Given the description of an element on the screen output the (x, y) to click on. 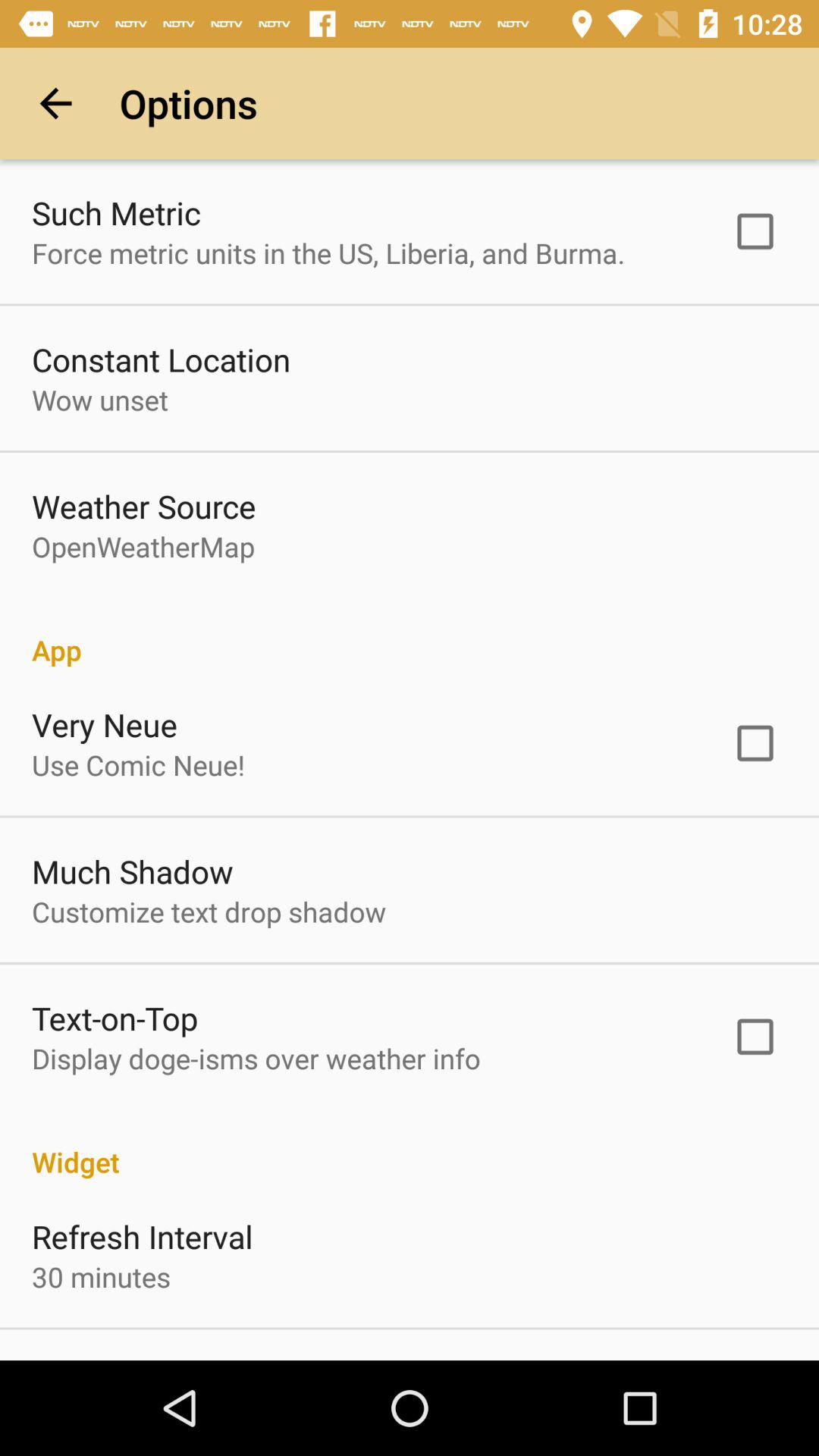
press the item below the use comic neue! icon (132, 870)
